Given the description of an element on the screen output the (x, y) to click on. 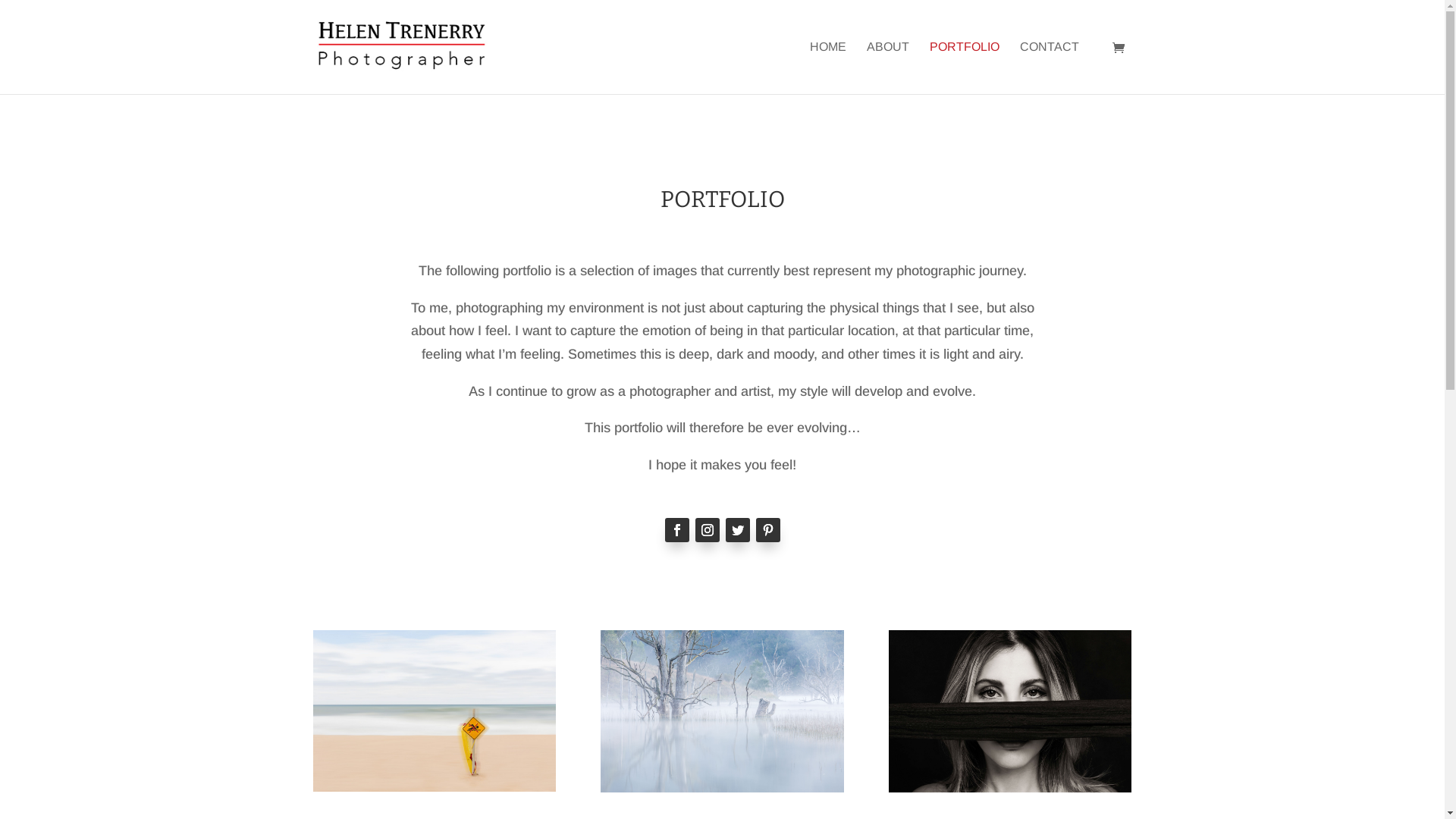
Follow on Twitter Element type: hover (736, 529)
Follow on Facebook Element type: hover (676, 529)
HOME Element type: text (827, 67)
PORTFOLIO Element type: text (964, 67)
Follow on Instagram Element type: hover (706, 529)
CONTACT Element type: text (1048, 67)
ABOUT Element type: text (887, 67)
Follow on Pinterest Element type: hover (767, 529)
